Given the description of an element on the screen output the (x, y) to click on. 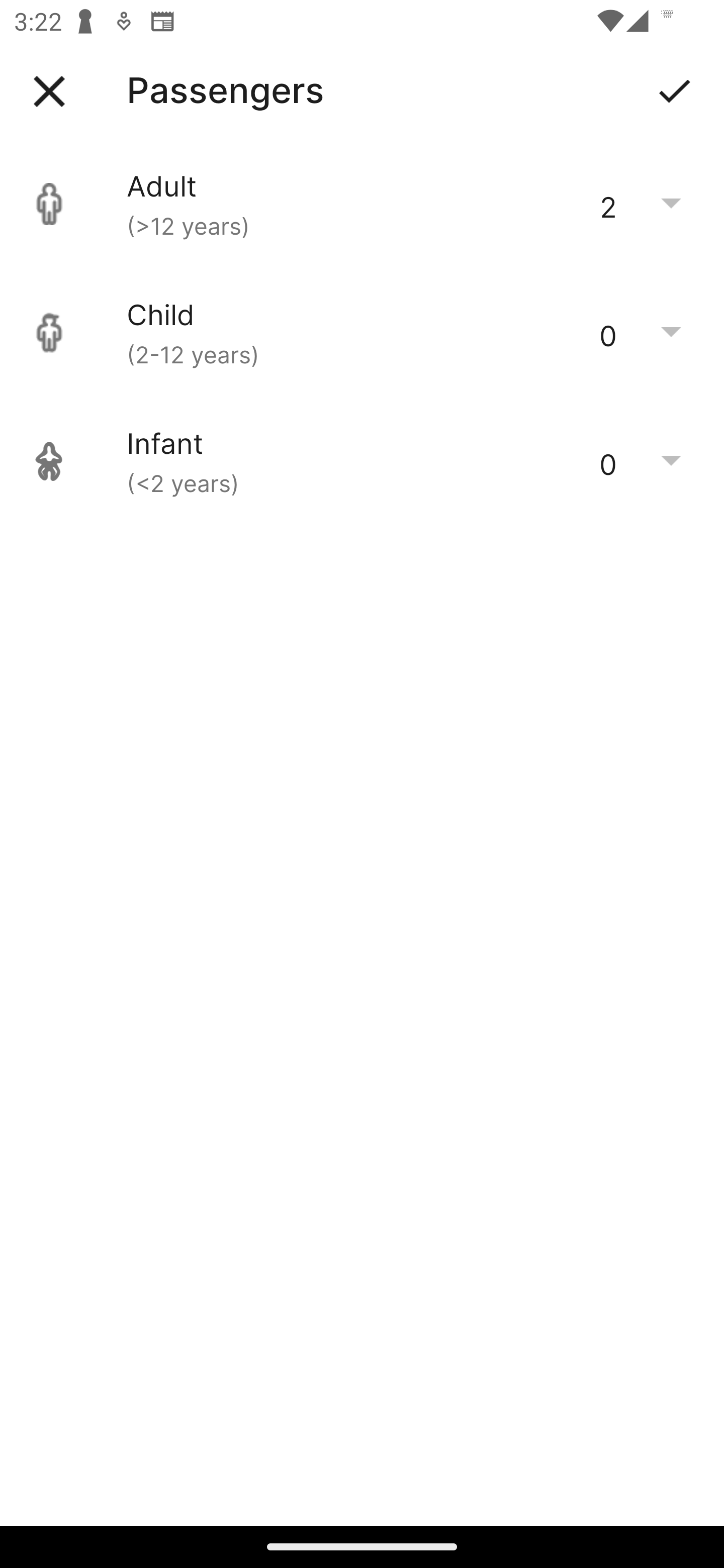
Adult (>12 years) 2 (362, 204)
Child (2-12 years) 0 (362, 332)
Infant (<2 years) 0 (362, 461)
